Given the description of an element on the screen output the (x, y) to click on. 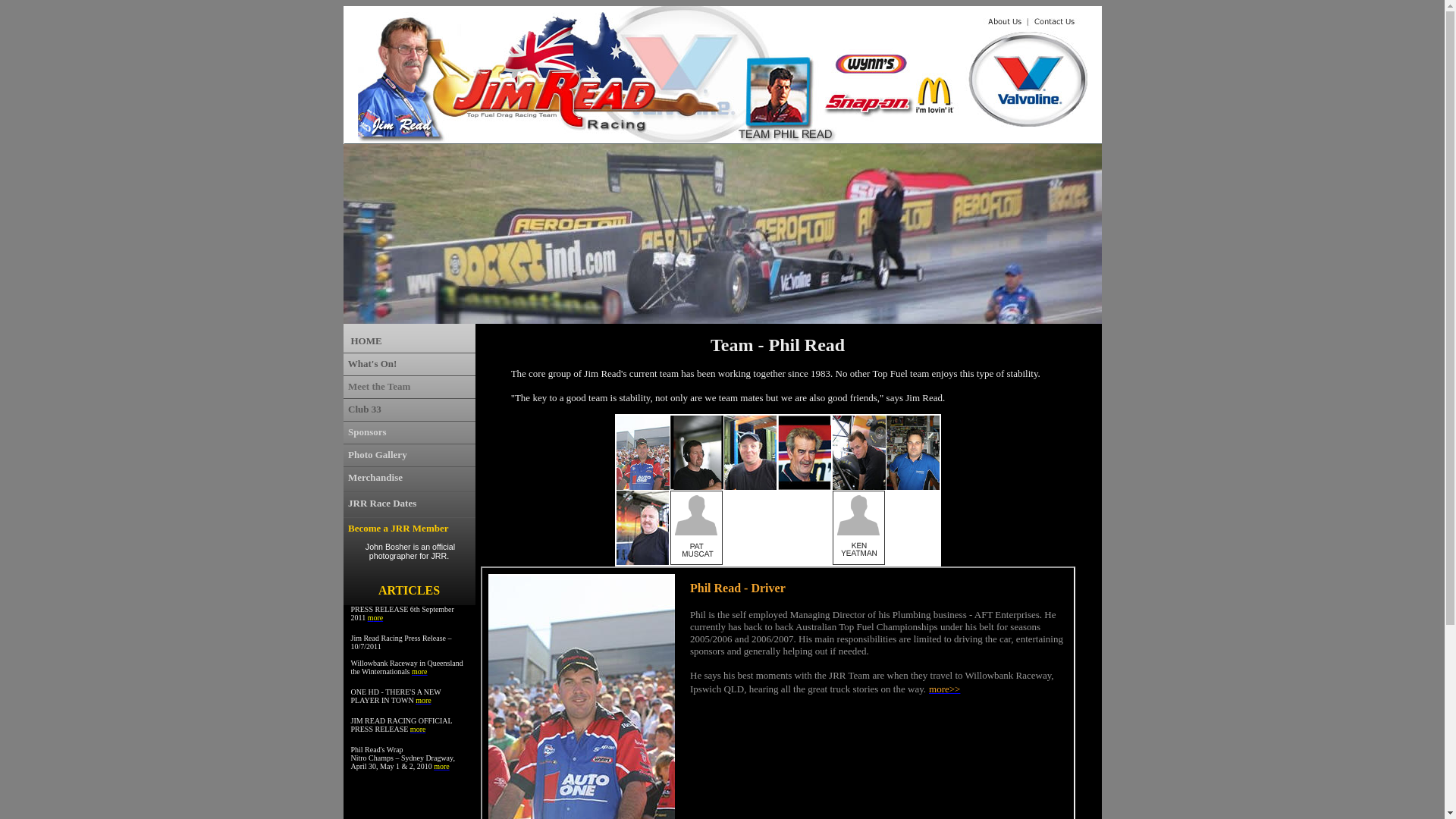
HOME Element type: text (365, 339)
Merchandise Element type: text (375, 477)
JRR Race Dates Element type: text (382, 502)
ore Element type: text (377, 617)
Photo Gallery Element type: text (377, 454)
Meet the Team Element type: text (379, 386)
more Element type: text (423, 698)
Sponsors Element type: text (367, 431)
m Element type: text (370, 615)
more Element type: text (441, 764)
  Element type: text (345, 454)
Become a JRR Member Element type: text (398, 527)
more Element type: text (419, 671)
more Element type: text (418, 727)
Club 33 Element type: text (364, 408)
What's On! Element type: text (372, 363)
